Given the description of an element on the screen output the (x, y) to click on. 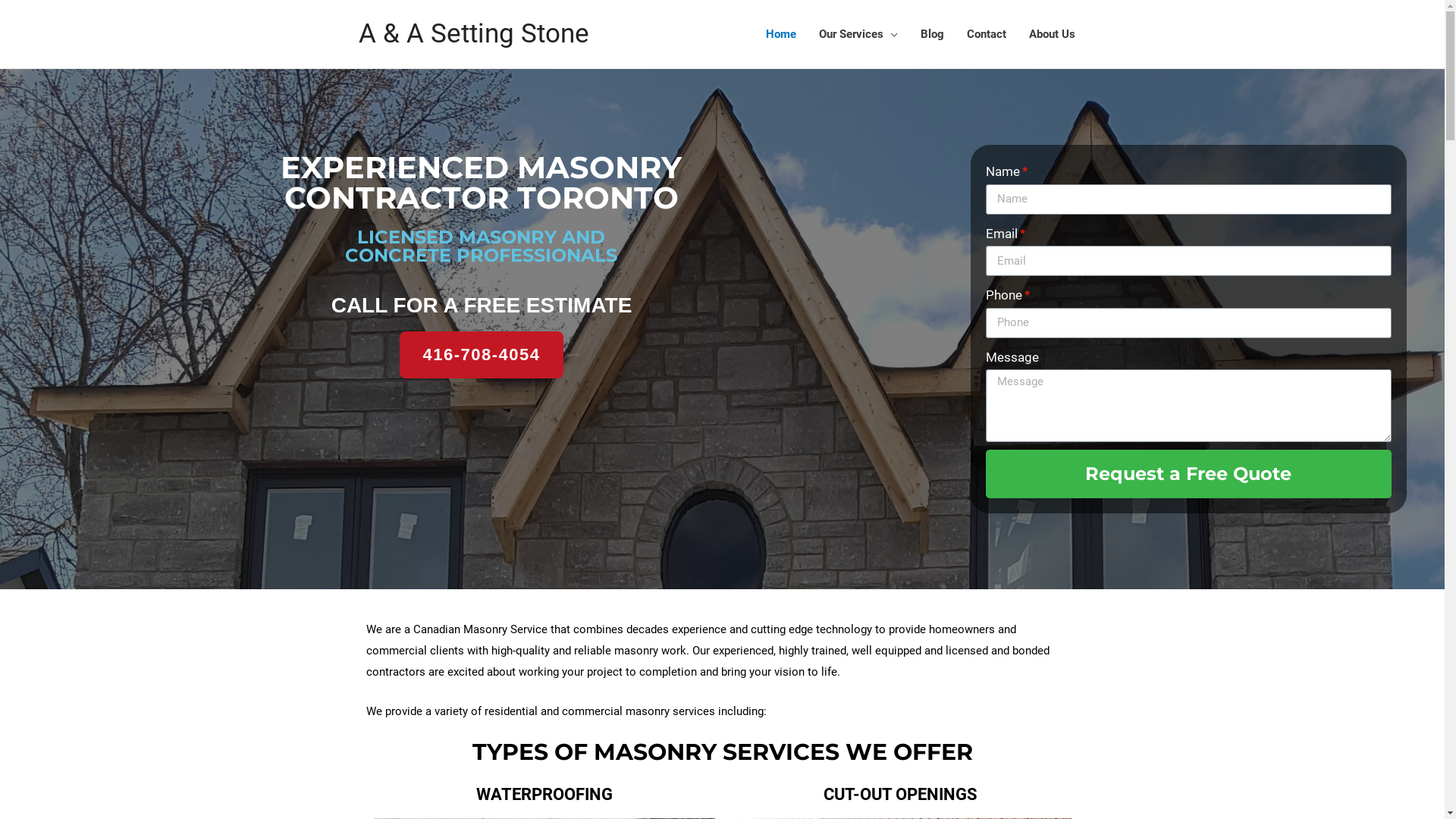
Blog Element type: text (931, 33)
WATERPROOFING Element type: text (544, 793)
416-708-4054 Element type: text (480, 354)
Contact Element type: text (986, 33)
A & A Setting Stone Element type: text (472, 33)
Request a Free Quote Element type: text (1188, 473)
Home Element type: text (779, 33)
Our Services Element type: text (857, 33)
CUT-OUT OPENINGS Element type: text (900, 793)
About Us Element type: text (1051, 33)
